Given the description of an element on the screen output the (x, y) to click on. 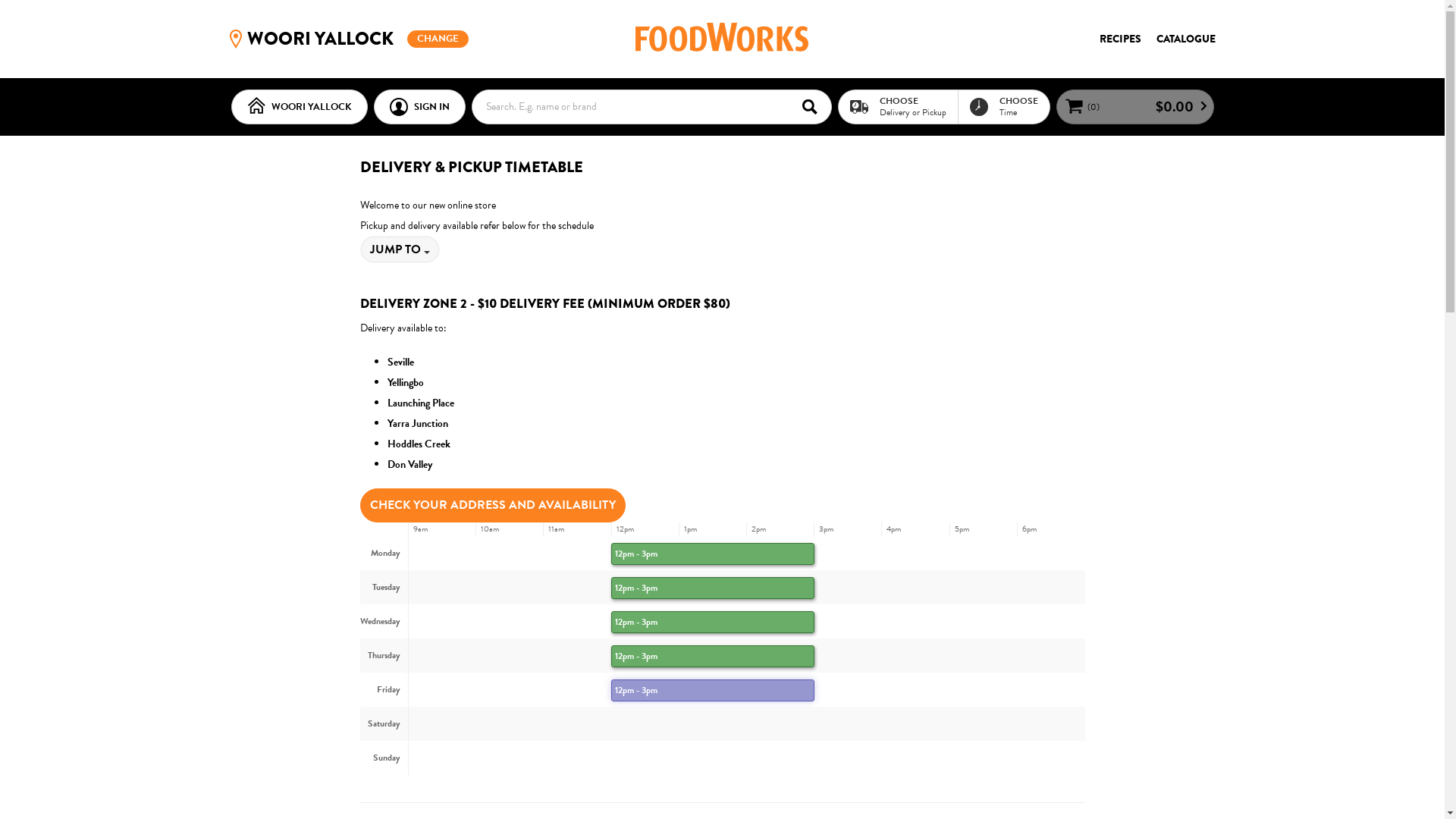
CATALOGUE Element type: text (1184, 38)
CHANGE Element type: text (437, 38)
JUMP TO Element type: text (399, 248)
RECIPES Element type: text (1120, 38)
Search Element type: hover (814, 105)
CHOOSE
Time Element type: text (1002, 105)
CHECK YOUR ADDRESS AND AVAILABILITY Element type: text (491, 505)
SIGN IN Element type: text (418, 106)
CHOOSE
Delivery or Pickup Element type: text (897, 105)
WOORI YALLOCK Element type: text (298, 106)
(0)
$0.00 Element type: text (1134, 106)
